Given the description of an element on the screen output the (x, y) to click on. 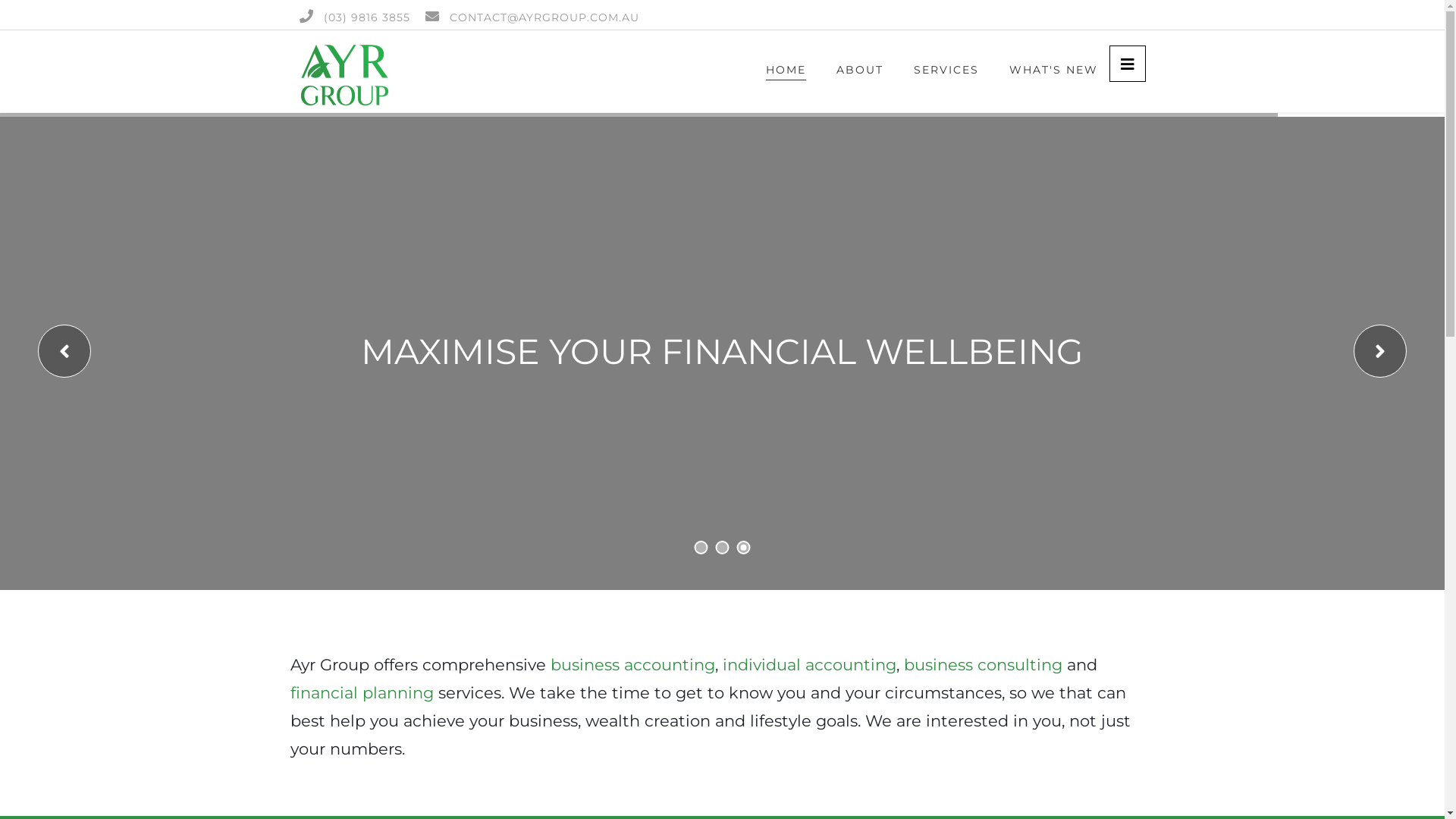
(03) 9816 3855 Element type: text (366, 17)
Helix3 Megamenu Options Element type: hover (1126, 63)
HOME Element type: text (785, 71)
business accounting Element type: text (632, 664)
CONTACT@AYRGROUP.COM.AU Element type: text (543, 17)
ABOUT Element type: text (858, 71)
WHAT'S NEW Element type: text (1052, 71)
business consulting Element type: text (982, 664)
individual accounting Element type: text (809, 664)
financial planning Element type: text (361, 692)
SERVICES Element type: text (945, 71)
